Given the description of an element on the screen output the (x, y) to click on. 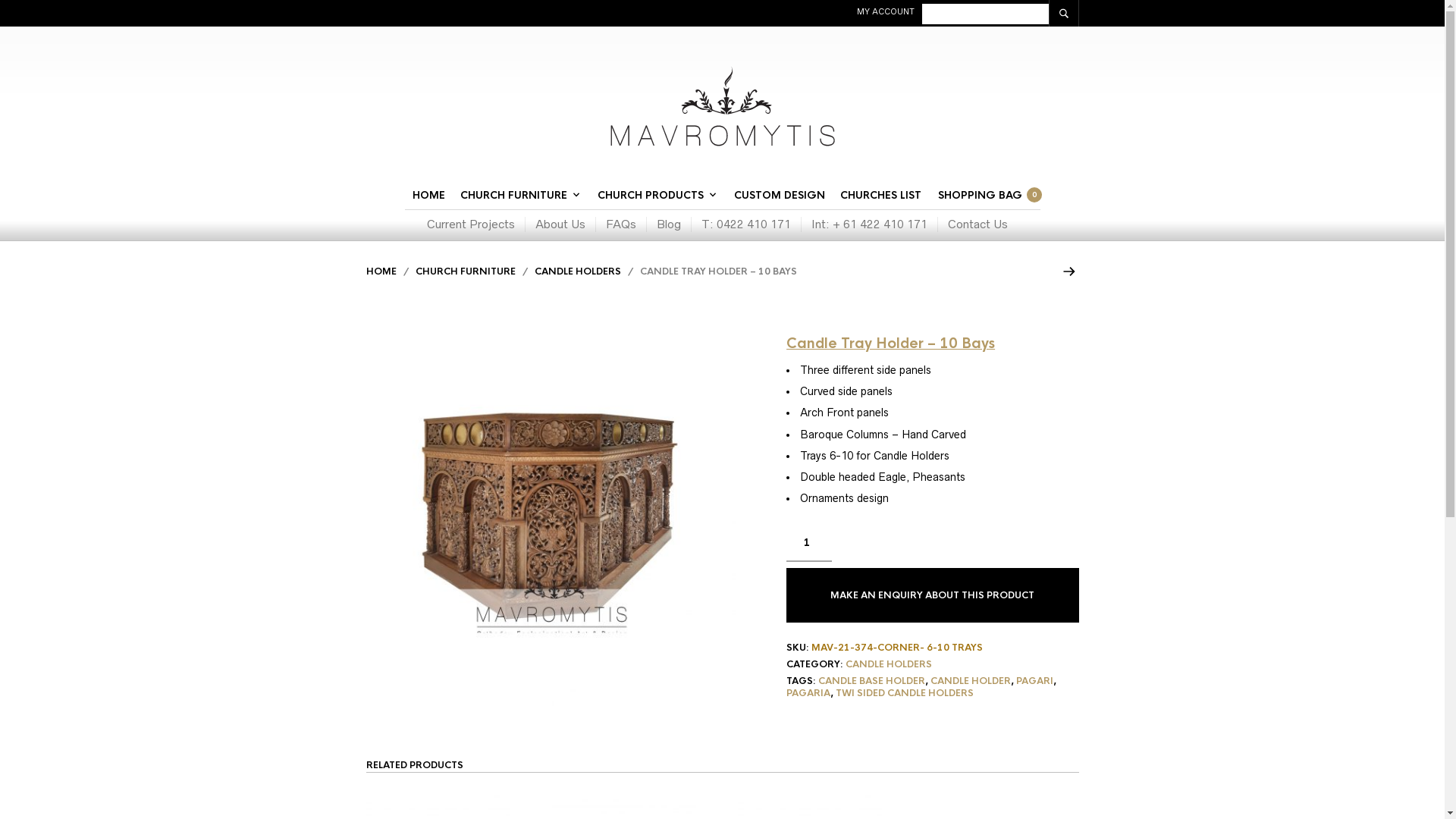
CANDLE HOLDER Element type: text (970, 680)
CANDLE BASE HOLDER Element type: text (871, 680)
TWI SIDED CANDLE HOLDERS Element type: text (904, 693)
CANDLE HOLDERS Element type: text (576, 271)
CHURCH FURNITURE Element type: text (465, 271)
HOME Element type: text (380, 271)
mav-21-374-corner- 4 tray Element type: hover (550, 520)
CHURCH FURNITURE Element type: text (516, 195)
Int: + 61 422 410 171 Element type: text (868, 224)
Blog Element type: text (668, 224)
CHURCHES LIST Element type: text (880, 195)
MY ACCOUNT Element type: text (885, 10)
PAGARIA Element type: text (808, 693)
Contact Us Element type: text (977, 224)
MAKE AN ENQUIRY ABOUT THIS PRODUCT Element type: text (932, 594)
PAGARI Element type: text (1034, 680)
CUSTOM DESIGN Element type: text (779, 195)
T: 0422 410 171 Element type: text (745, 224)
CANDLE HOLDERS Element type: text (888, 664)
About Us Element type: text (559, 224)
FAQs Element type: text (620, 224)
CHURCH PRODUCTS Element type: text (653, 195)
HOME Element type: text (428, 195)
Current Projects Element type: text (475, 224)
